Given the description of an element on the screen output the (x, y) to click on. 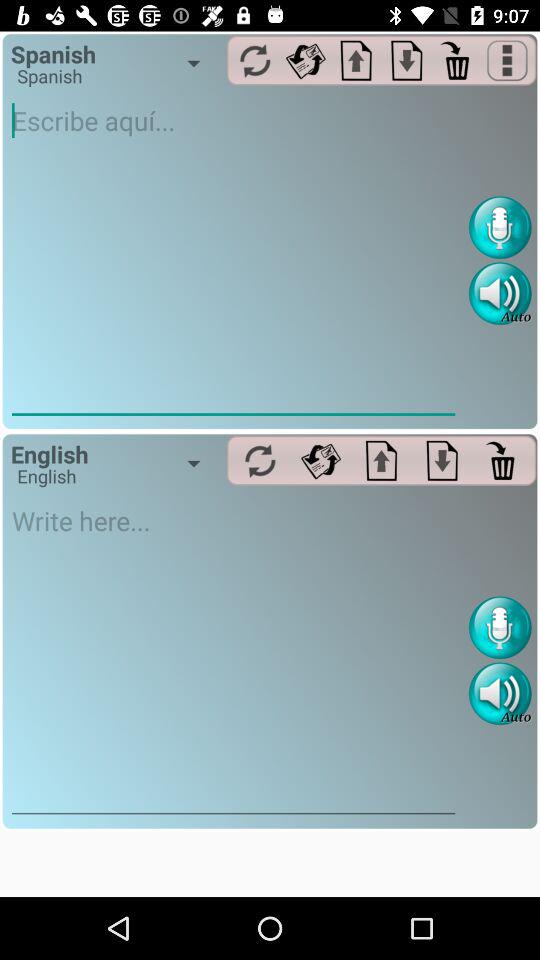
download (406, 60)
